Given the description of an element on the screen output the (x, y) to click on. 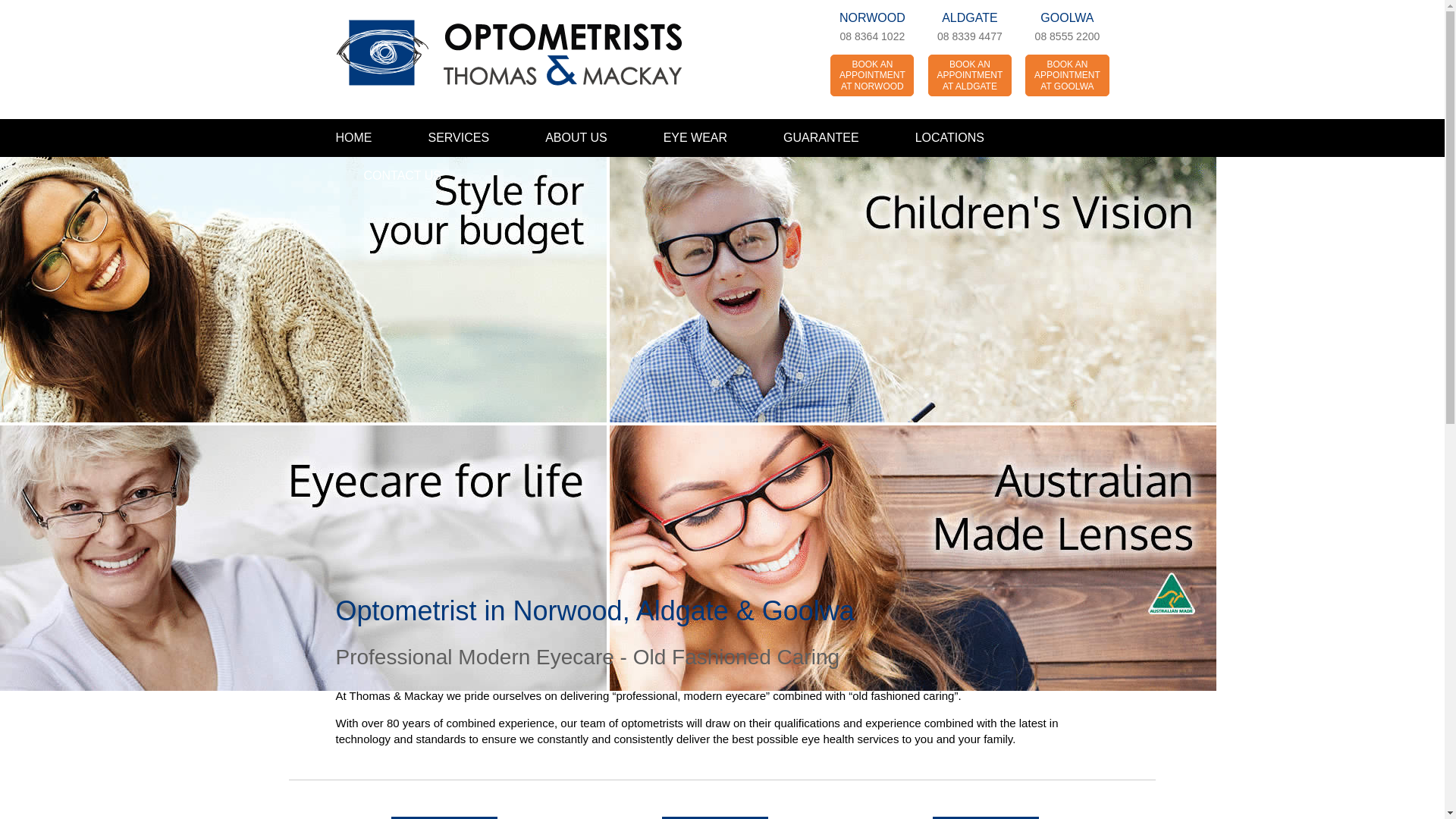
GUARANTEE (820, 137)
08 8339 4477 (970, 36)
LOCATIONS (948, 137)
HOME (366, 137)
08 8364 1022 (872, 36)
ABOUT US (575, 137)
EYE WEAR (694, 137)
CONTACT US (387, 175)
08 8555 2200 (1067, 36)
SERVICES (459, 137)
